Given the description of an element on the screen output the (x, y) to click on. 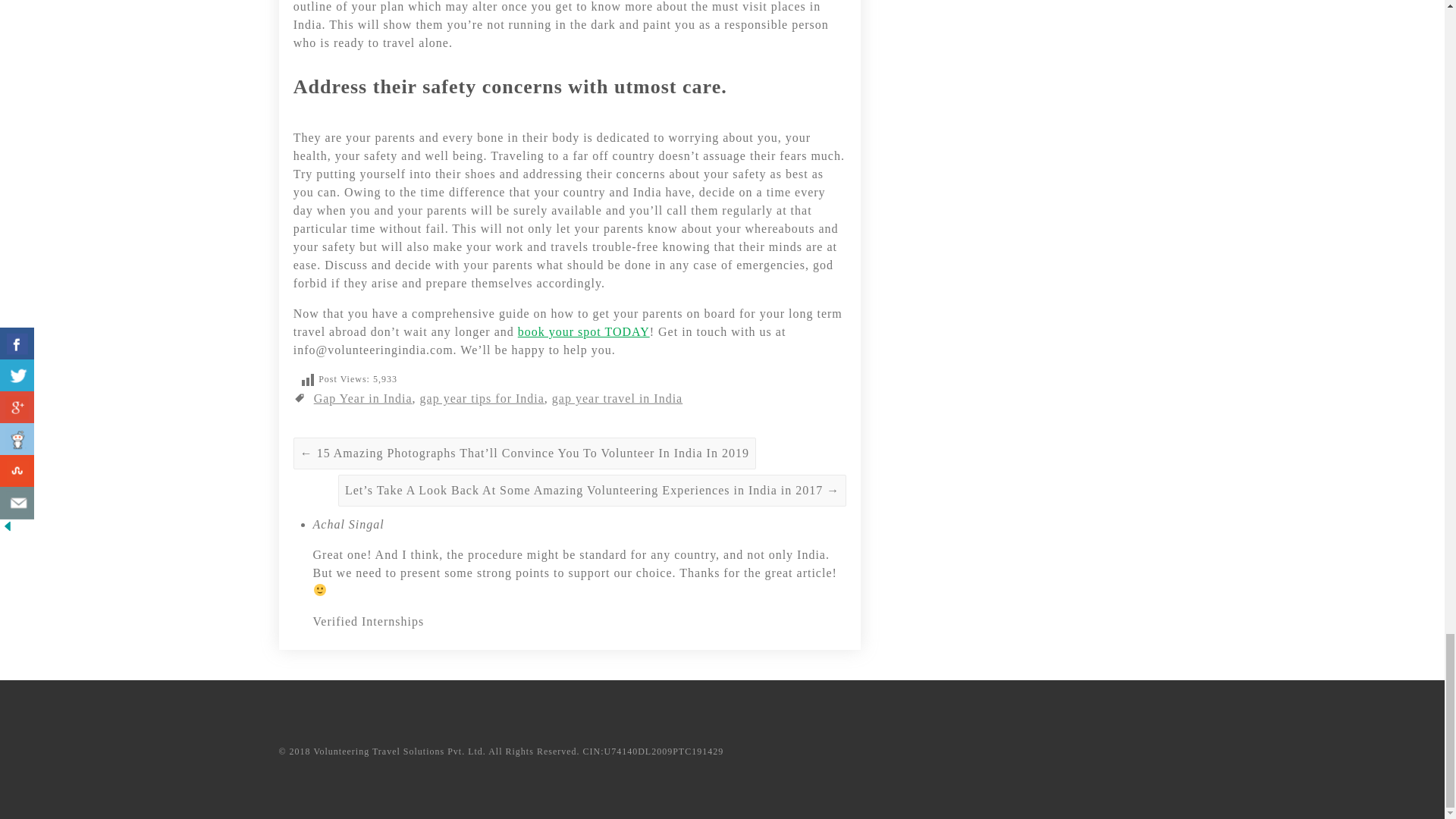
gap year tips for India (482, 398)
book your spot TODAY (583, 331)
gap year travel in India (616, 398)
Verified Internships (368, 621)
Gap Year in India (363, 398)
